Given the description of an element on the screen output the (x, y) to click on. 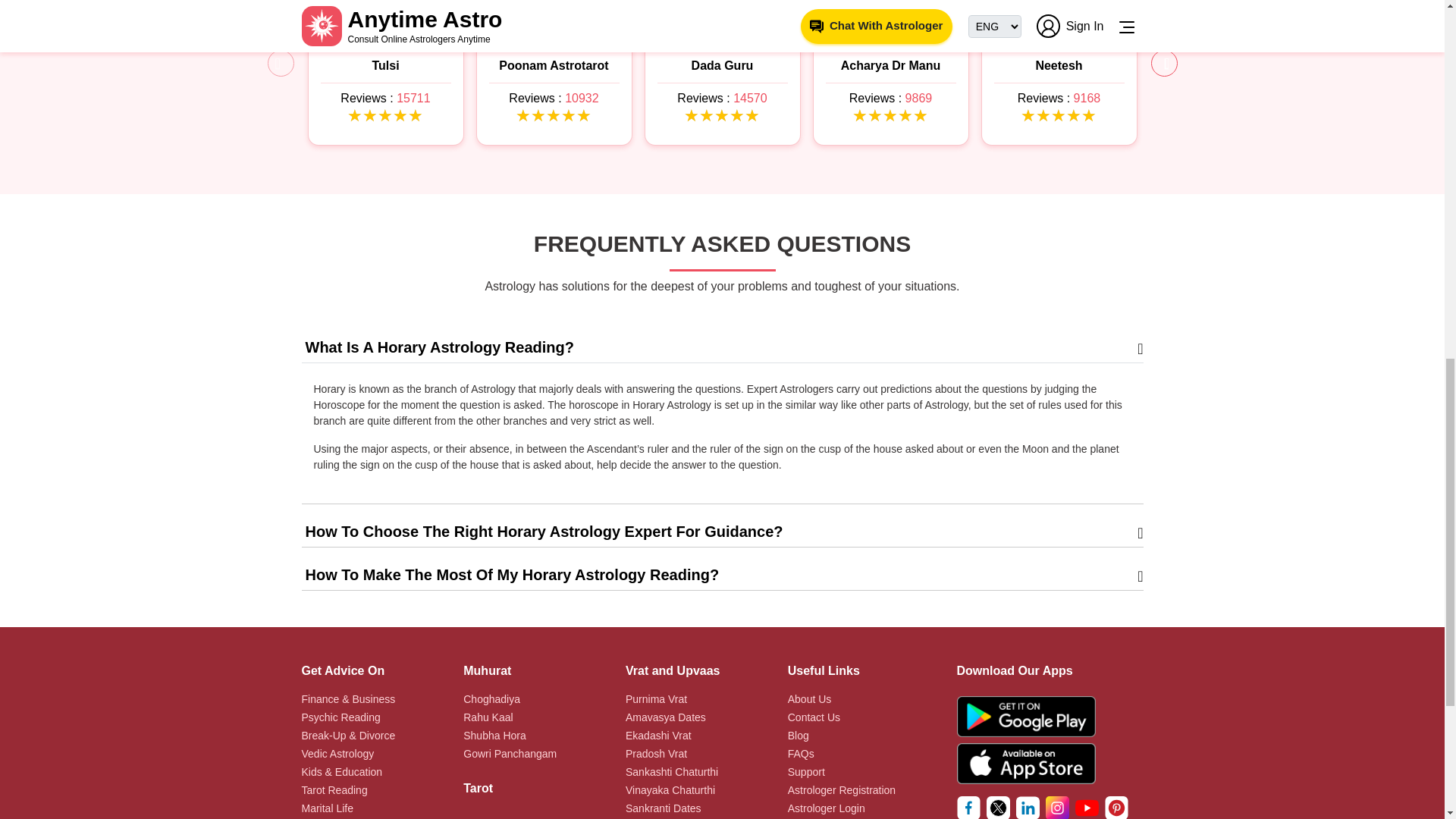
Neetesh (1058, 65)
Dada Guru (721, 65)
Poonam Astrotarot (552, 65)
Tulsi (384, 65)
Acharya Dr Manu (890, 65)
